Given the description of an element on the screen output the (x, y) to click on. 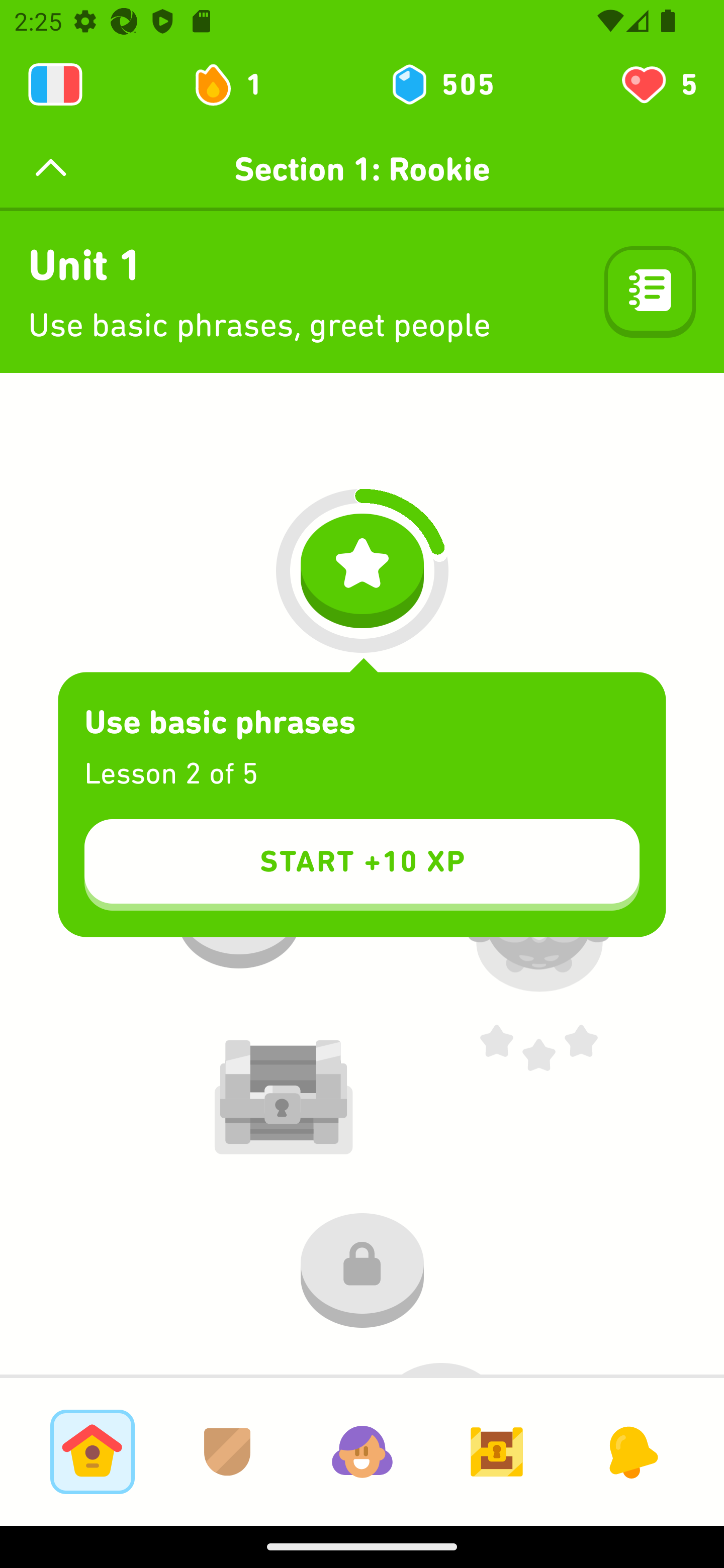
Learning 2131888976 (55, 84)
1 day streak 1 (236, 84)
505 (441, 84)
You have 5 hearts left 5 (657, 84)
Section 1: Rookie (362, 169)
Use basic phrases Lesson 2 of 5 START +10 XP (361, 805)
START +10 XP (361, 864)
Learn Tab (91, 1451)
Leagues Tab (227, 1451)
Profile Tab (361, 1451)
Goals Tab (496, 1451)
News Tab (631, 1451)
